Given the description of an element on the screen output the (x, y) to click on. 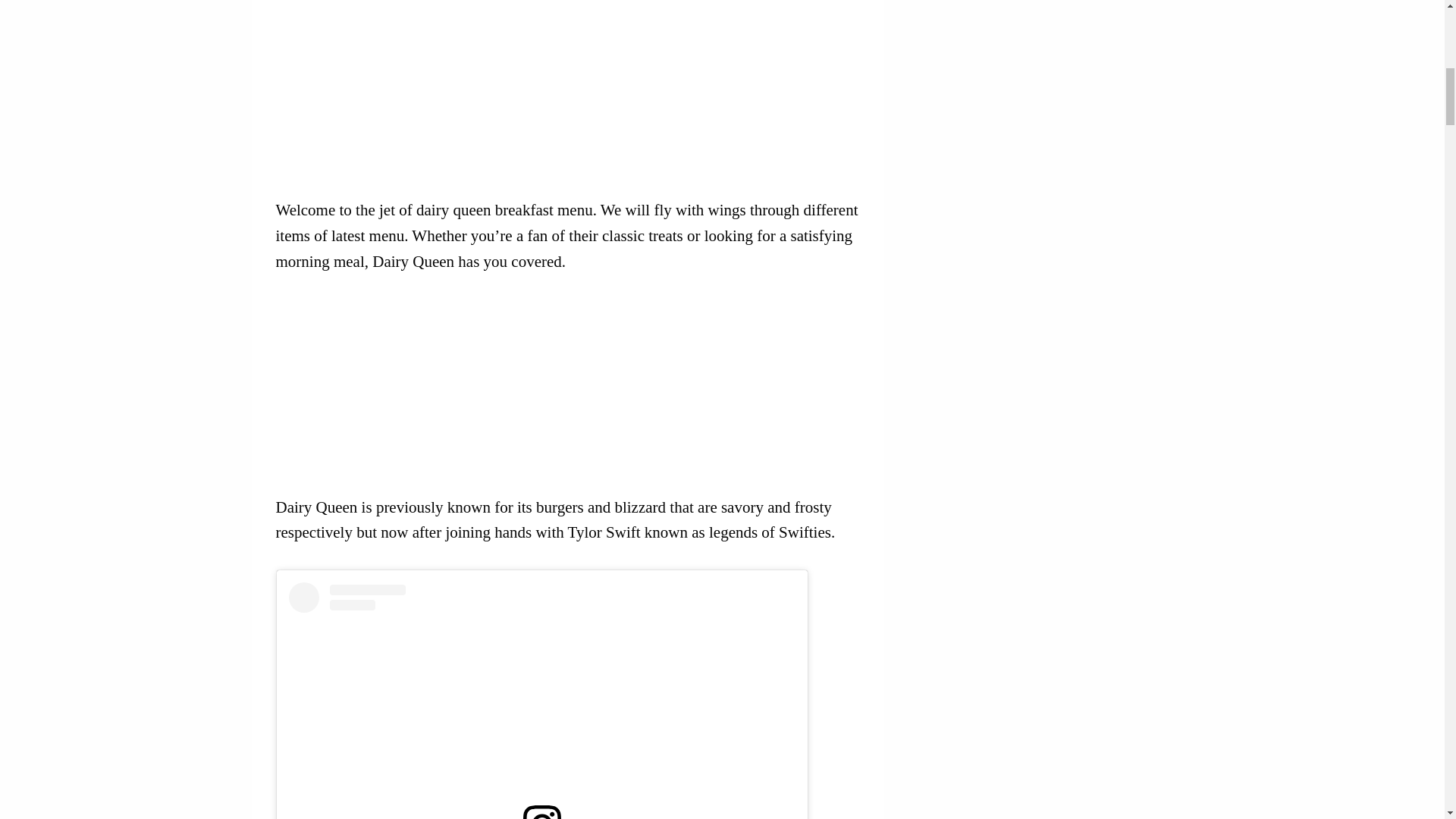
View this post on Instagram (541, 700)
